Given the description of an element on the screen output the (x, y) to click on. 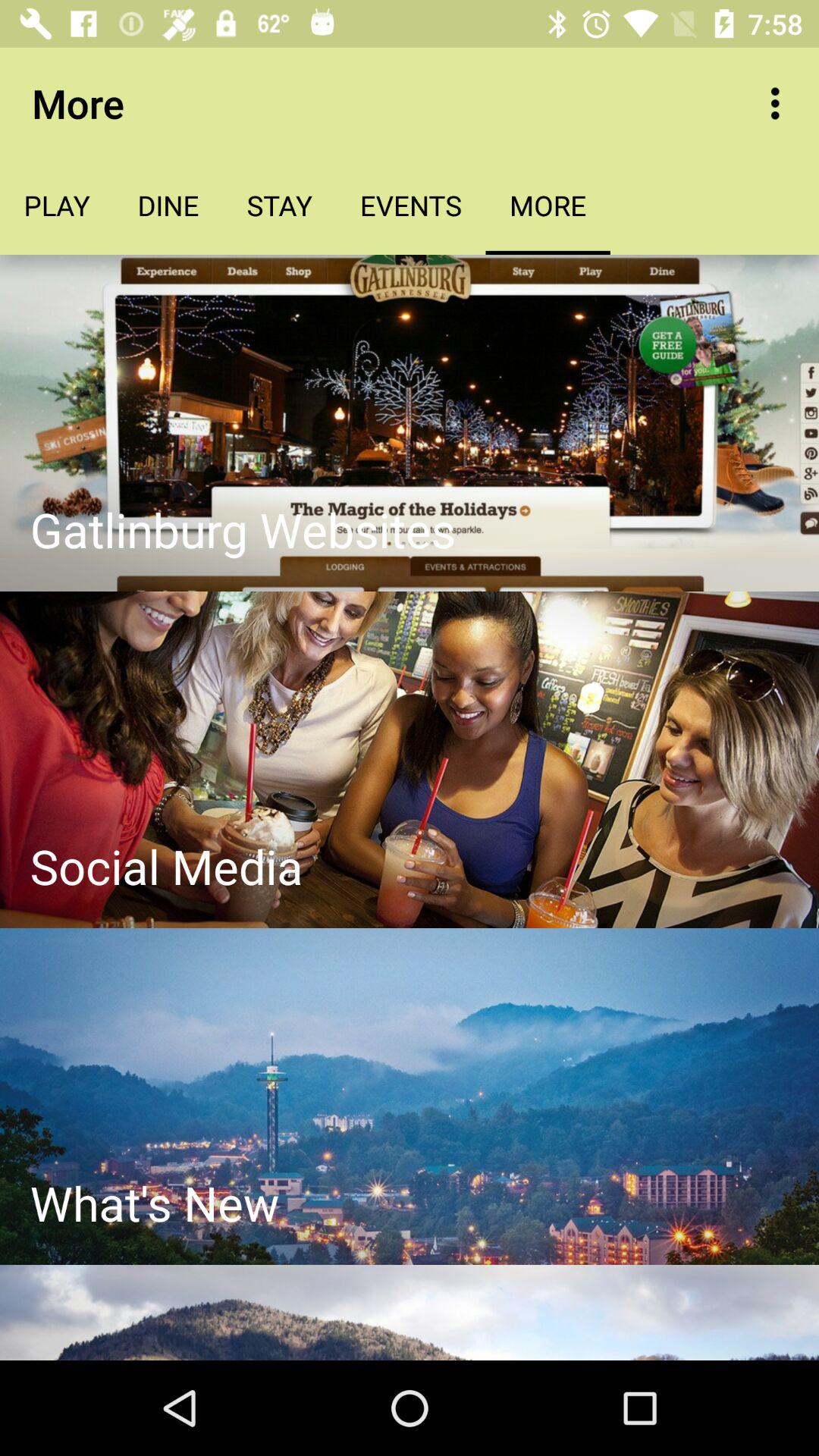
select the icon next to the more item (779, 103)
